Given the description of an element on the screen output the (x, y) to click on. 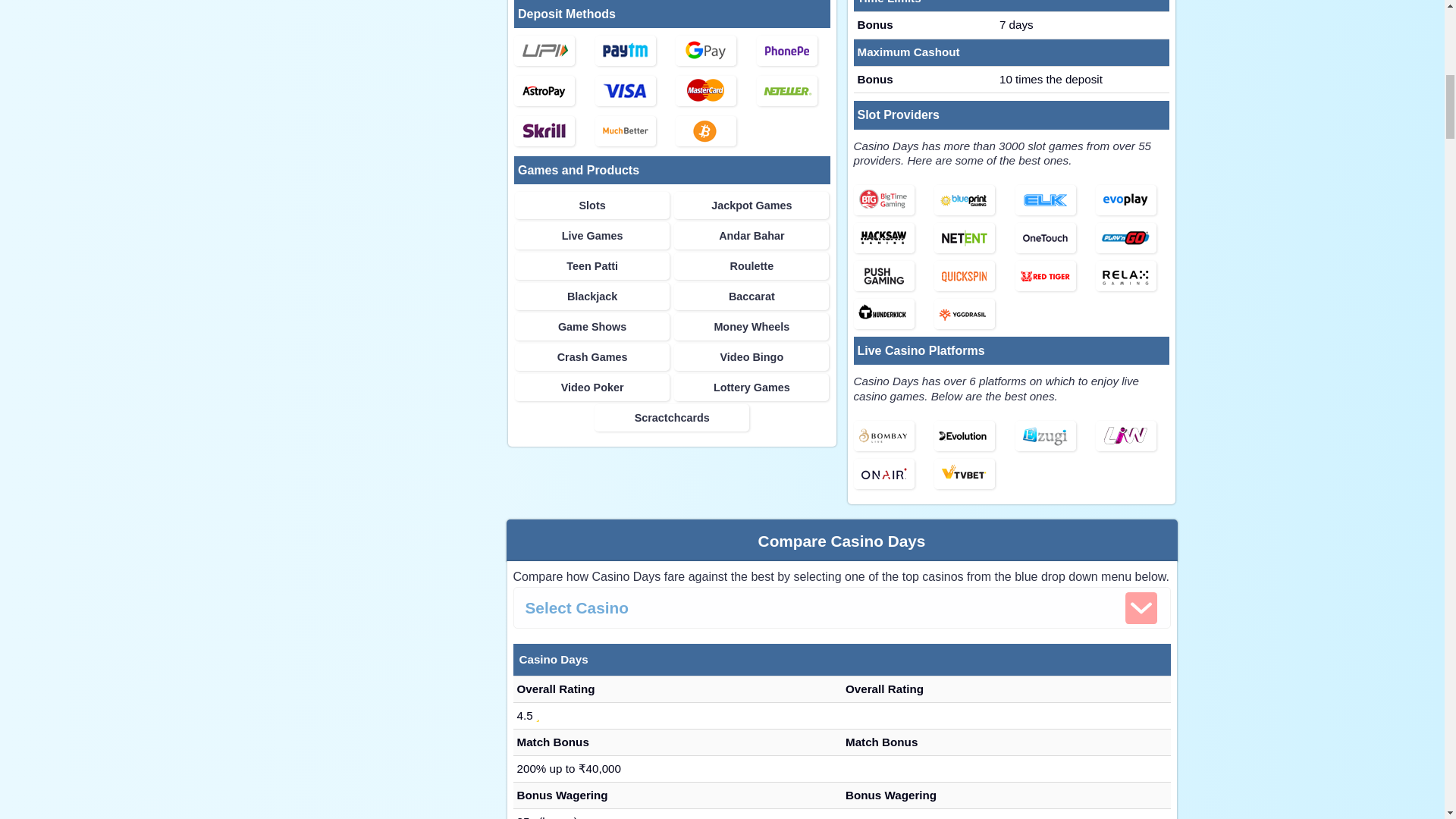
Visa (625, 91)
Google-pay (712, 51)
Astropay (544, 91)
Astropay (550, 92)
Paytm (631, 51)
Phonepe (793, 51)
Upi (550, 51)
Mastercard (705, 91)
Phonepe (786, 51)
Paytm (625, 51)
